Given the description of an element on the screen output the (x, y) to click on. 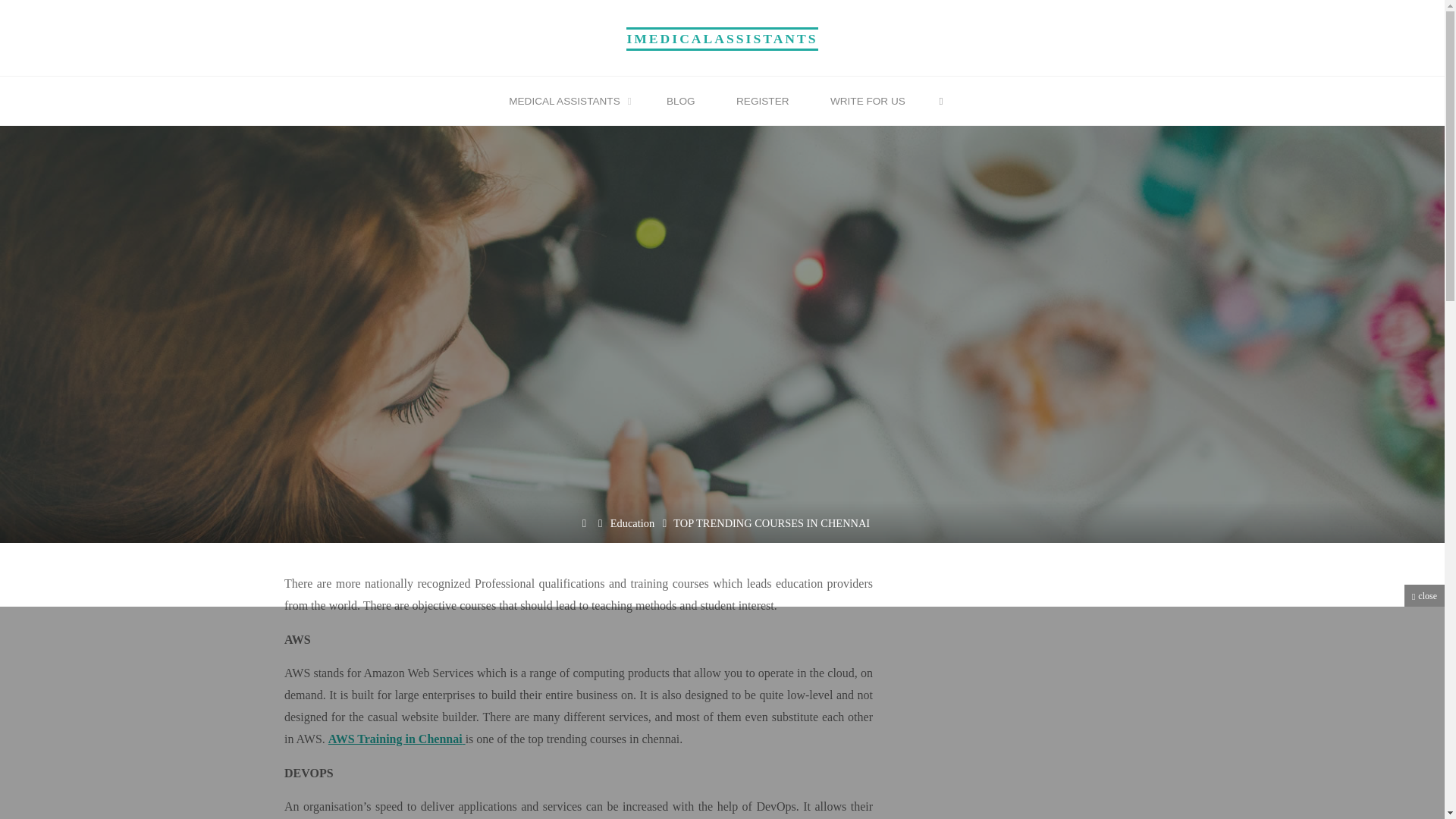
Home (584, 522)
Education (632, 522)
BLOG (681, 101)
AWS Training in Chennai (395, 738)
WRITE FOR US (867, 101)
Home (584, 522)
IMEDICALASSISTANTS (721, 38)
REGISTER (762, 101)
MEDICAL ASSISTANTS (566, 101)
